Given the description of an element on the screen output the (x, y) to click on. 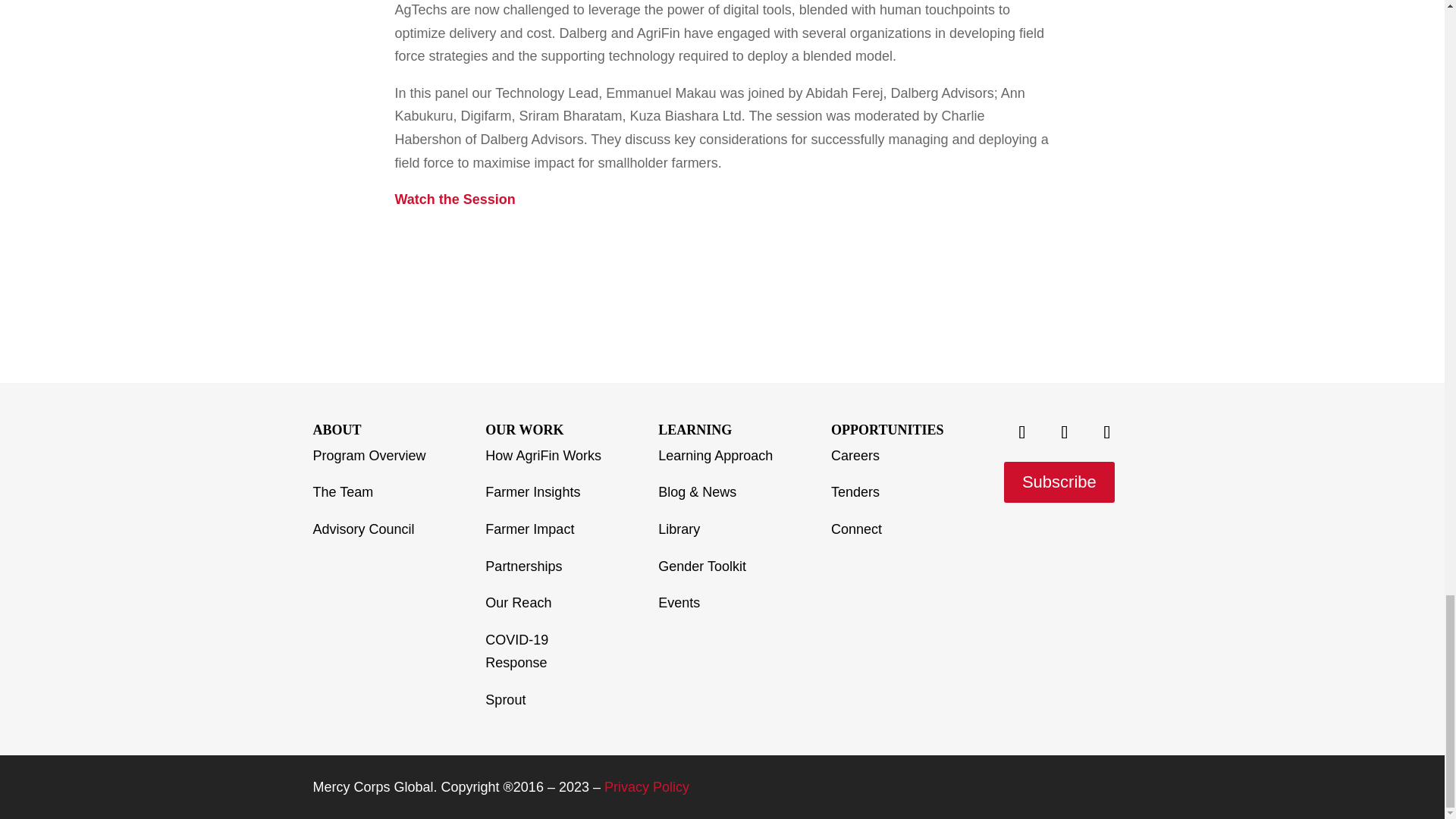
Follow on X (1022, 432)
Follow on Youtube (1064, 432)
The Team (342, 491)
Program Overview (369, 455)
Watch the Session (454, 199)
Follow on LinkedIn (1107, 432)
